Given the description of an element on the screen output the (x, y) to click on. 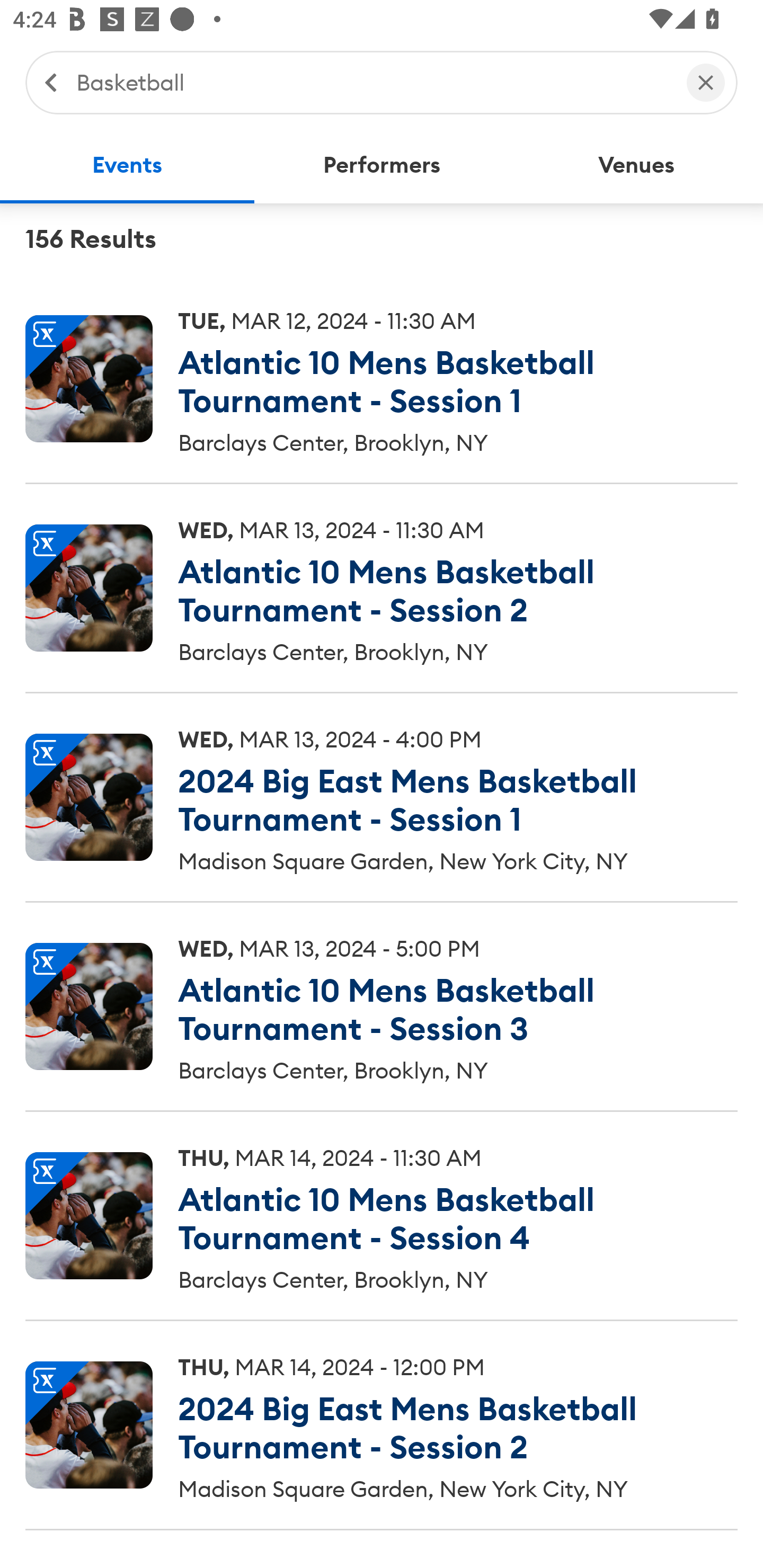
Basketball (371, 81)
Clear Search (705, 81)
Performers (381, 165)
Venues (635, 165)
